Given the description of an element on the screen output the (x, y) to click on. 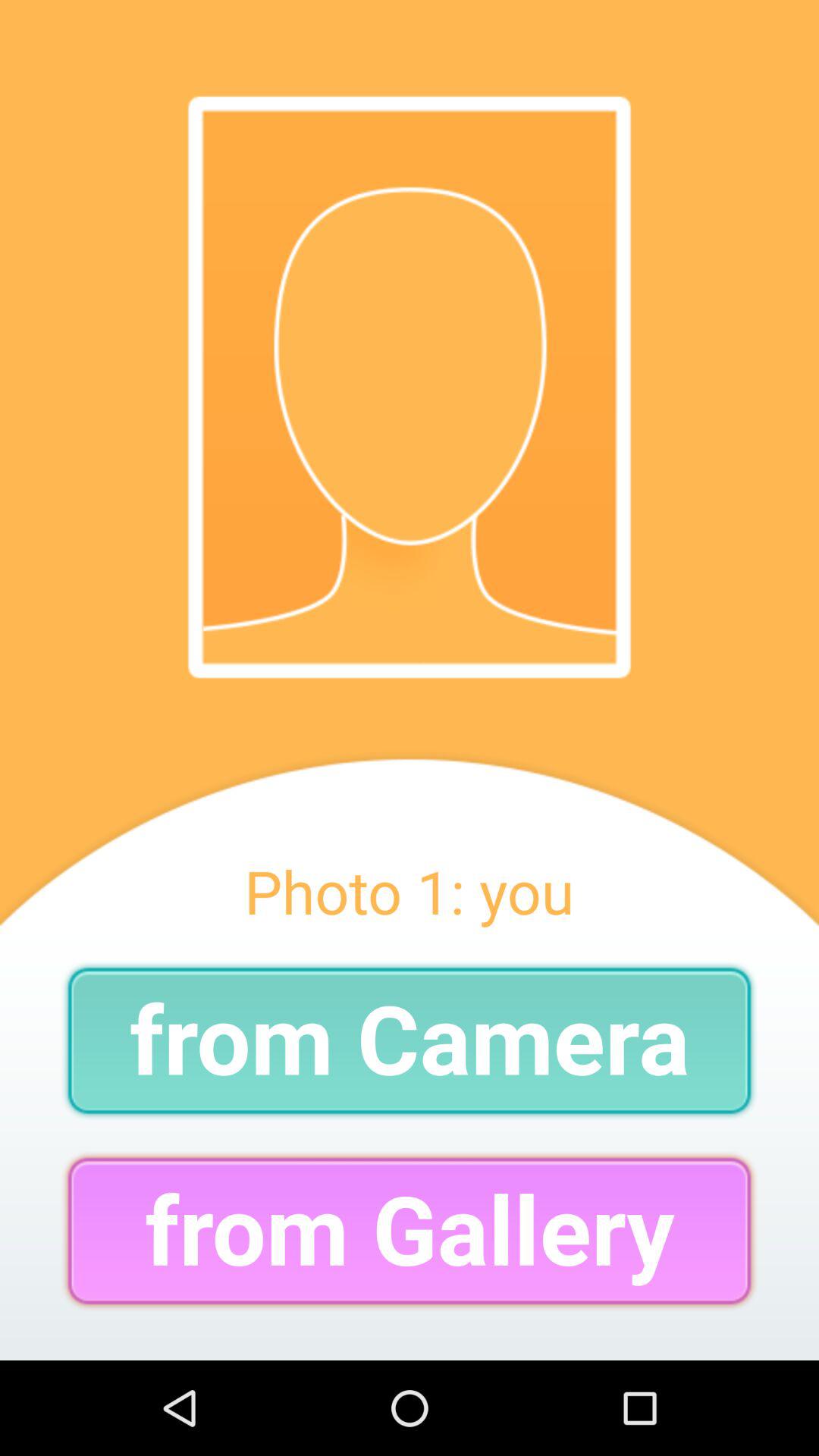
tap icon below from camera item (409, 1230)
